Given the description of an element on the screen output the (x, y) to click on. 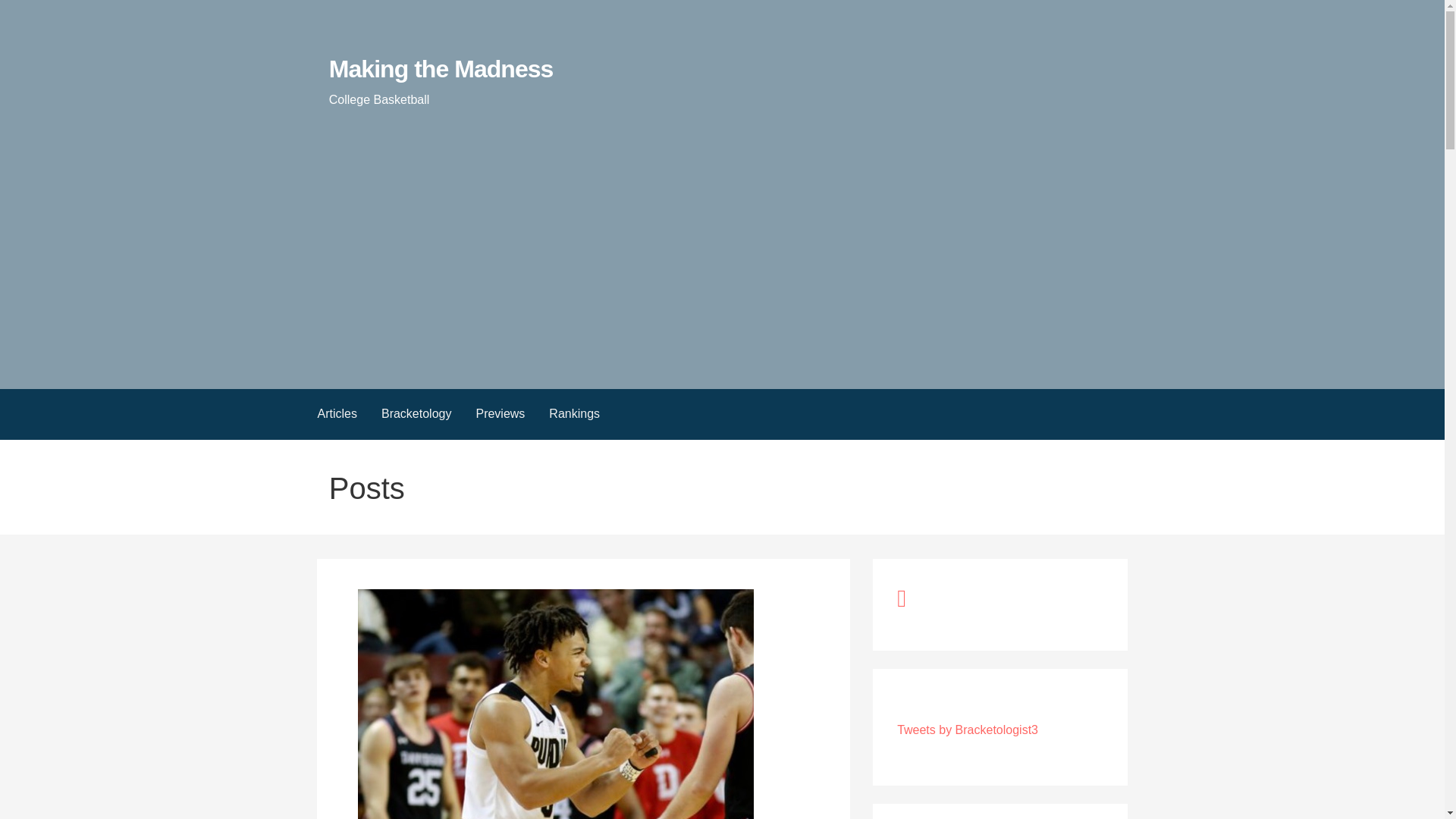
Making the Madness (441, 68)
Bracketology (416, 414)
Rankings (574, 414)
Previews (500, 414)
Articles (336, 414)
Tweets by Bracketologist3 (967, 729)
